Given the description of an element on the screen output the (x, y) to click on. 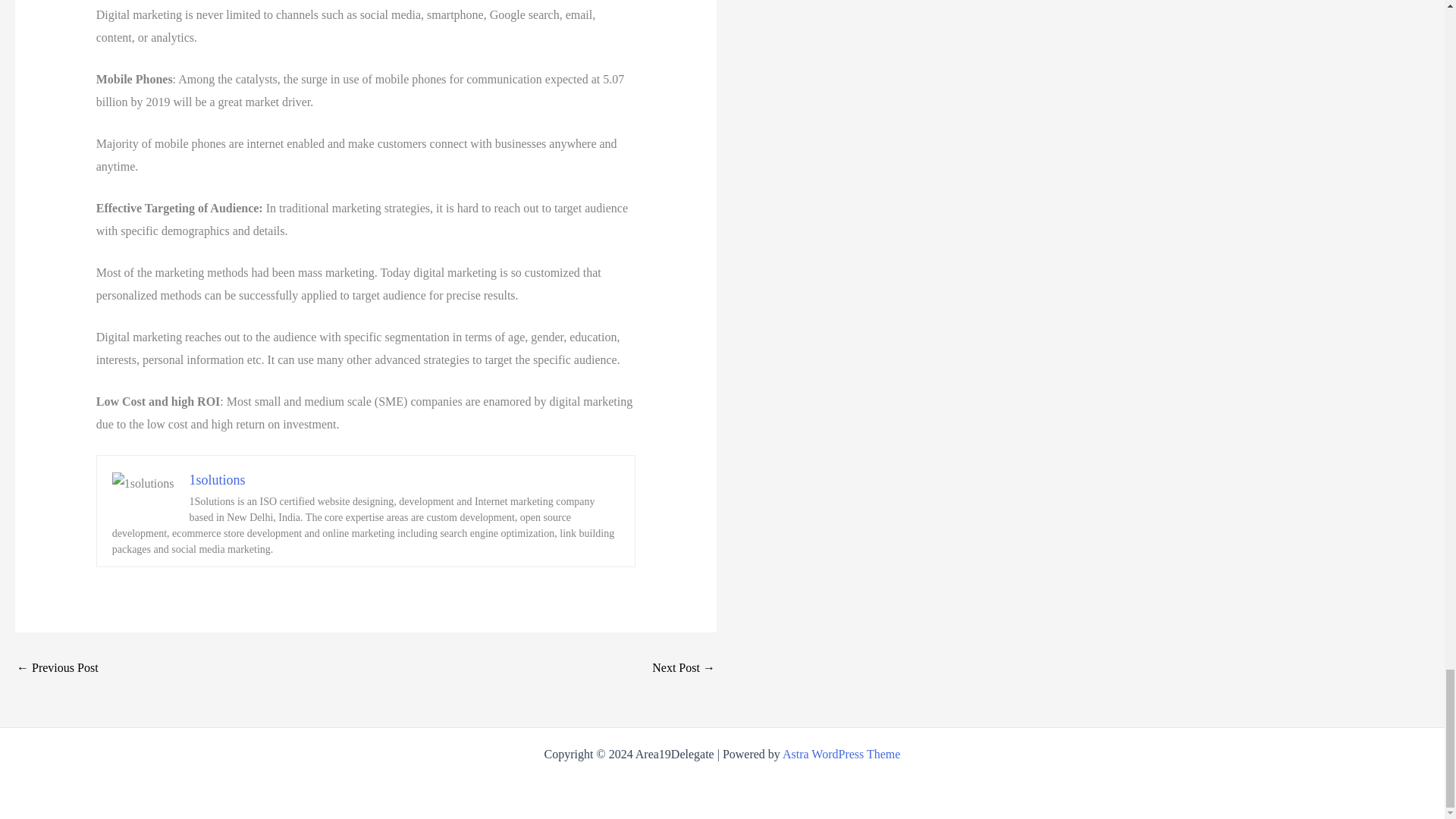
1solutions (217, 479)
